Given the description of an element on the screen output the (x, y) to click on. 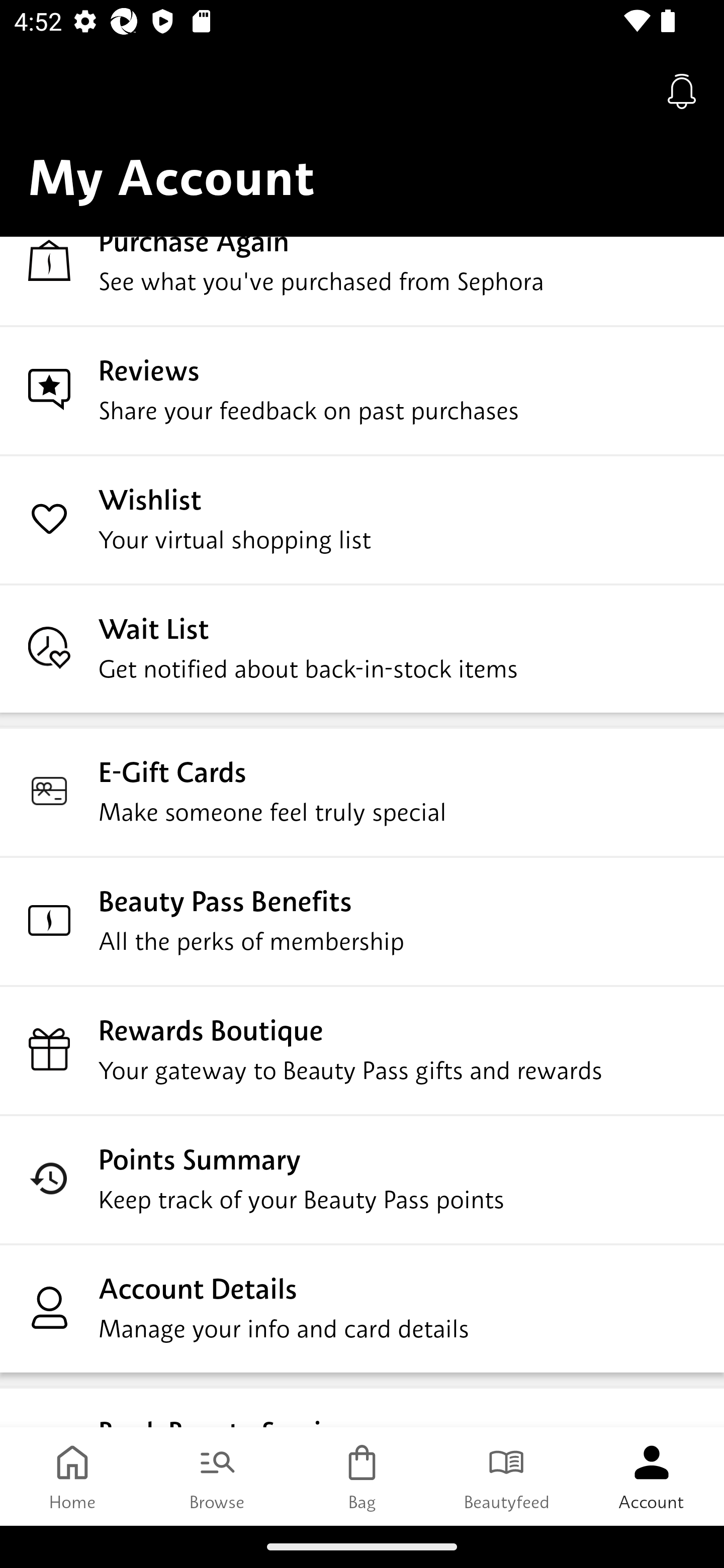
Notifications (681, 90)
Reviews Share your feedback on past purchases (362, 389)
Wishlist Your virtual shopping list (362, 518)
Wait List Get notified about back-in-stock items (362, 647)
E-Gift Cards Make someone feel truly special (362, 790)
Beauty Pass Benefits All the perks of membership (362, 920)
Account Details Manage your info and card details (362, 1307)
Home (72, 1475)
Browse (216, 1475)
Bag (361, 1475)
Beautyfeed (506, 1475)
